Given the description of an element on the screen output the (x, y) to click on. 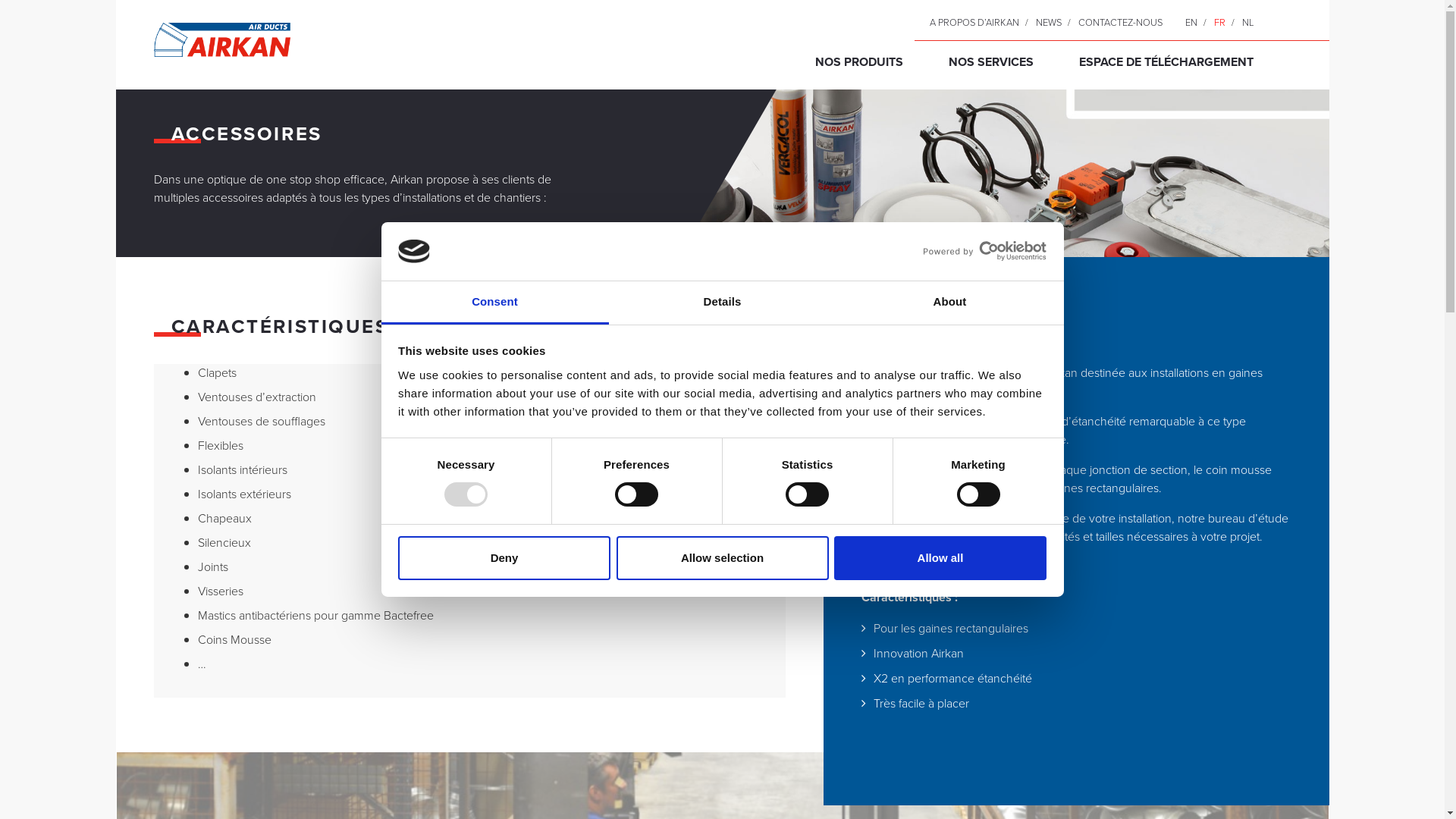
Consent Element type: text (494, 302)
CONTACTEZ-NOUS Element type: text (1120, 22)
Deny Element type: text (504, 558)
Allow all Element type: text (940, 558)
NOS SERVICES Element type: text (990, 61)
About Element type: text (949, 302)
NEWS Element type: text (1048, 22)
Airkan - The ventilation duct made in Belgium Element type: text (221, 40)
NOS PRODUITS Element type: text (858, 61)
Allow selection Element type: text (721, 558)
Details Element type: text (721, 302)
EN Element type: text (1190, 22)
NL Element type: text (1247, 22)
